Given the description of an element on the screen output the (x, y) to click on. 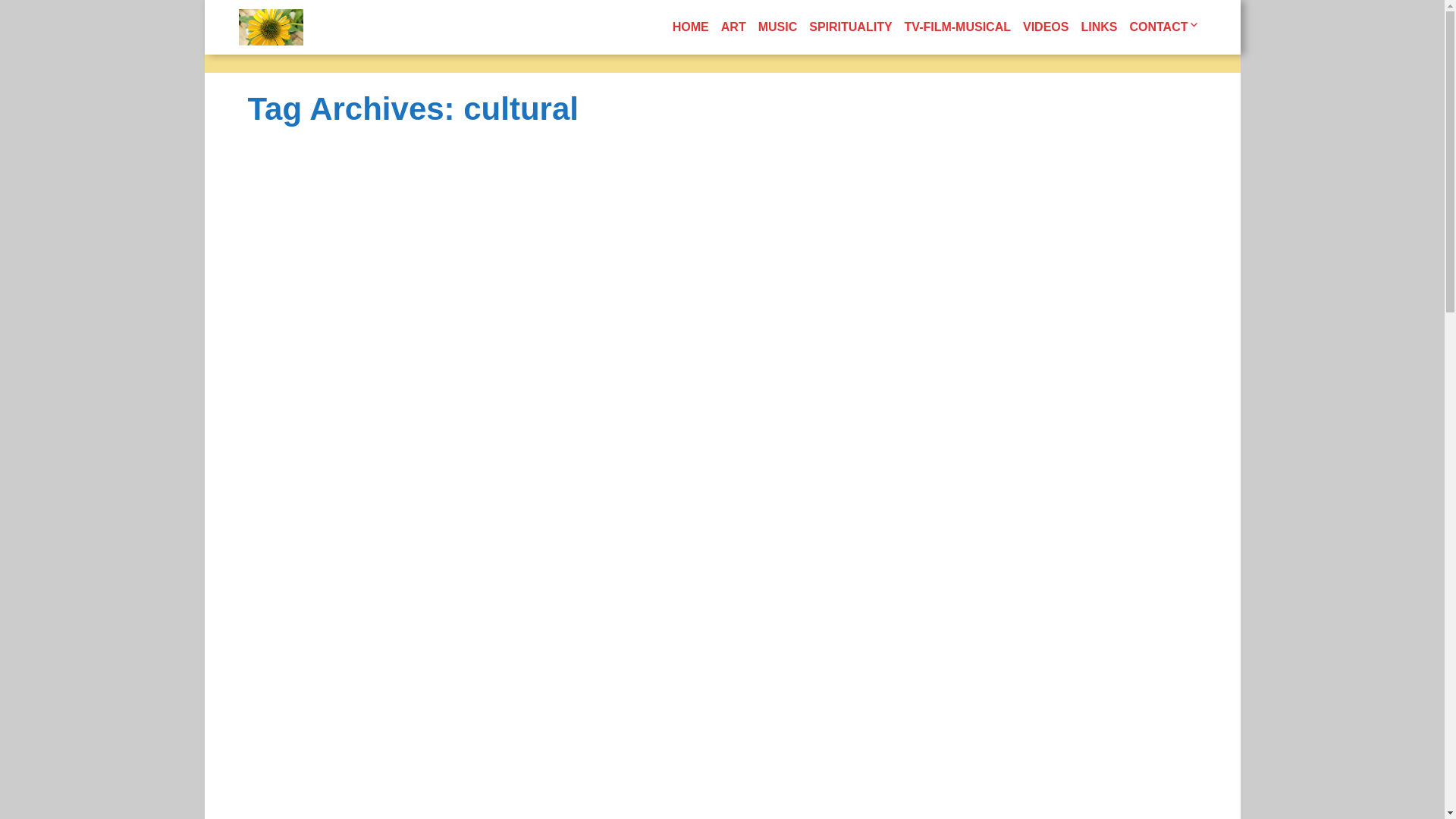
CONTACT (1163, 27)
TV-FILM-MUSICAL (957, 27)
Privacy Policy (1245, 75)
MUSIC (777, 27)
Johanna's Blog (269, 27)
VIDEOS (1045, 27)
HOME (690, 27)
SPIRITUALITY (850, 27)
